Given the description of an element on the screen output the (x, y) to click on. 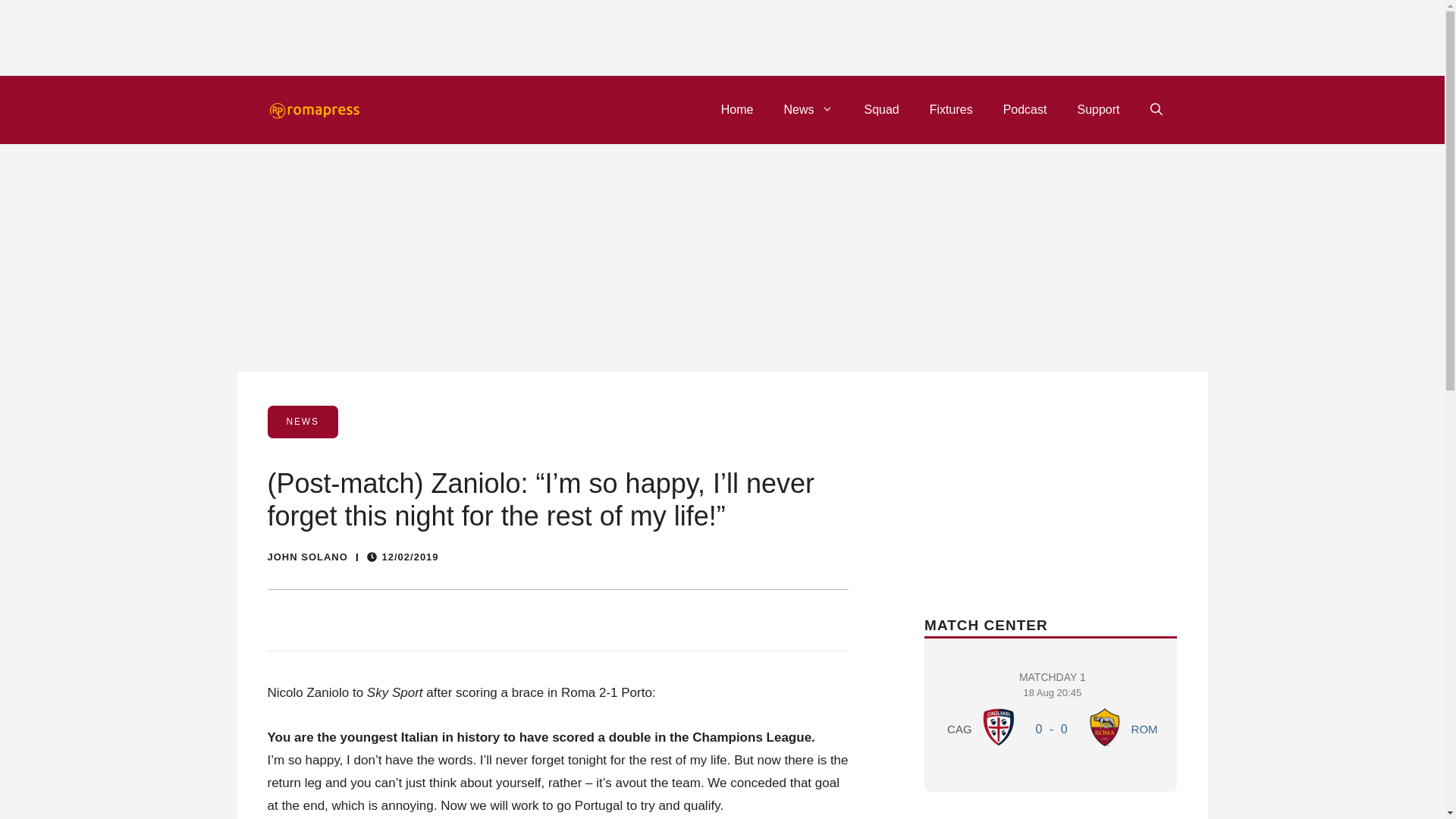
Podcast (1025, 109)
Fixtures (1052, 710)
News (951, 109)
Support (808, 109)
Home (1097, 109)
0 - 0 (737, 109)
Roma (1051, 728)
Cagliari (1105, 727)
Squad (998, 727)
